Given the description of an element on the screen output the (x, y) to click on. 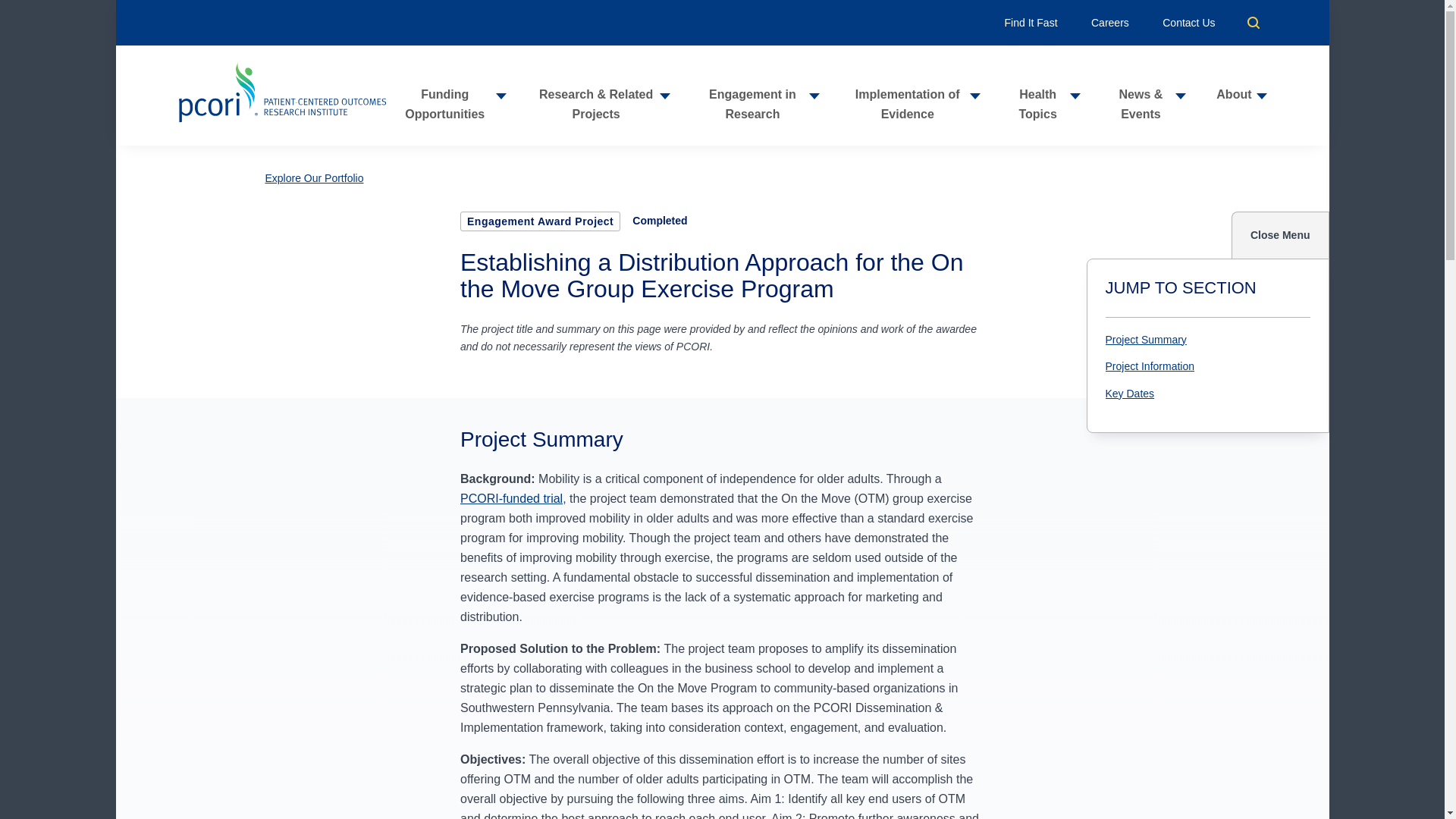
Search (1252, 22)
Find It Fast (1031, 22)
Contact Us (1187, 22)
Careers (1109, 22)
Skip to main content (721, 6)
Home (281, 95)
